Given the description of an element on the screen output the (x, y) to click on. 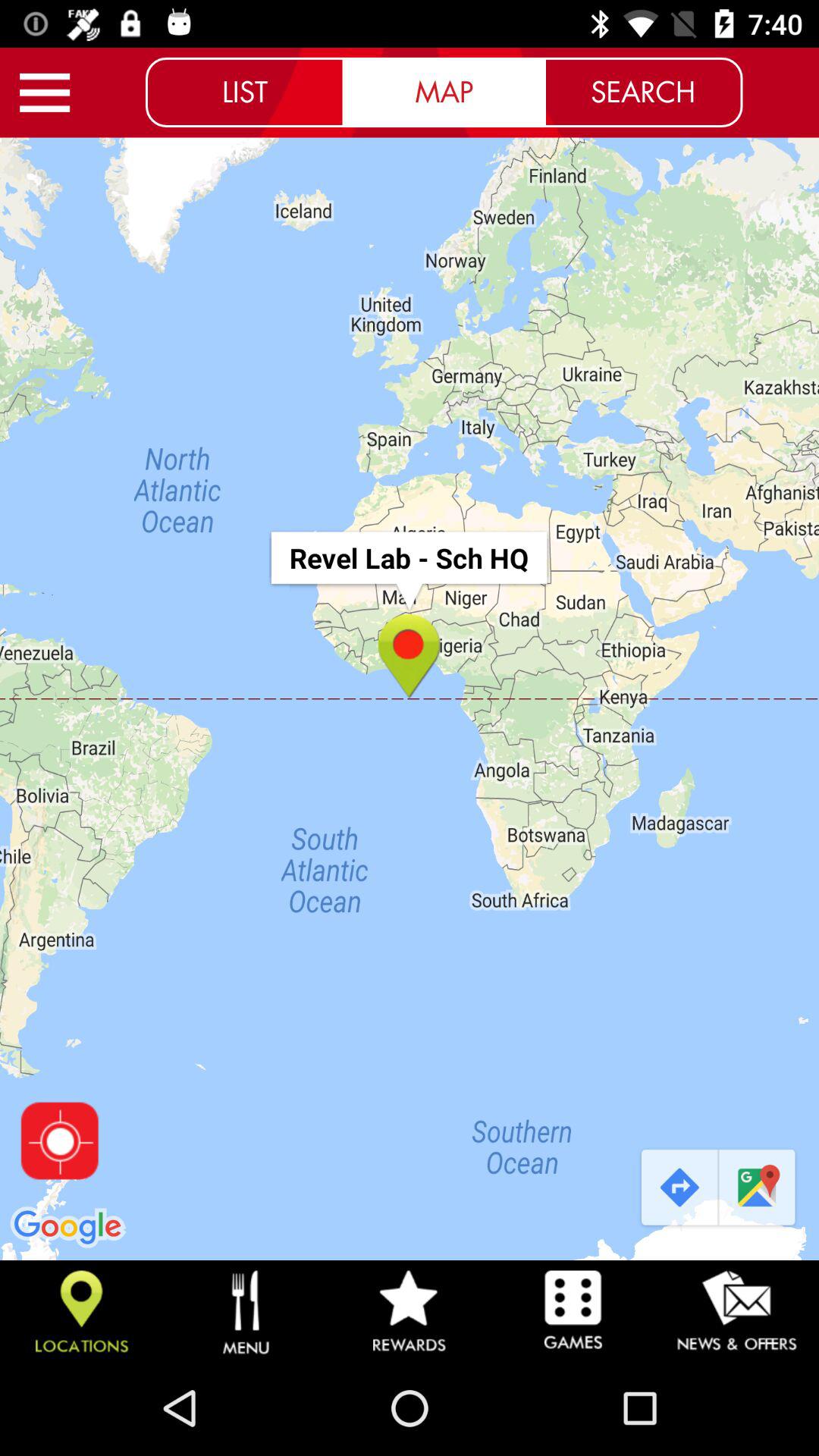
enable gps location tracker (59, 1140)
